Given the description of an element on the screen output the (x, y) to click on. 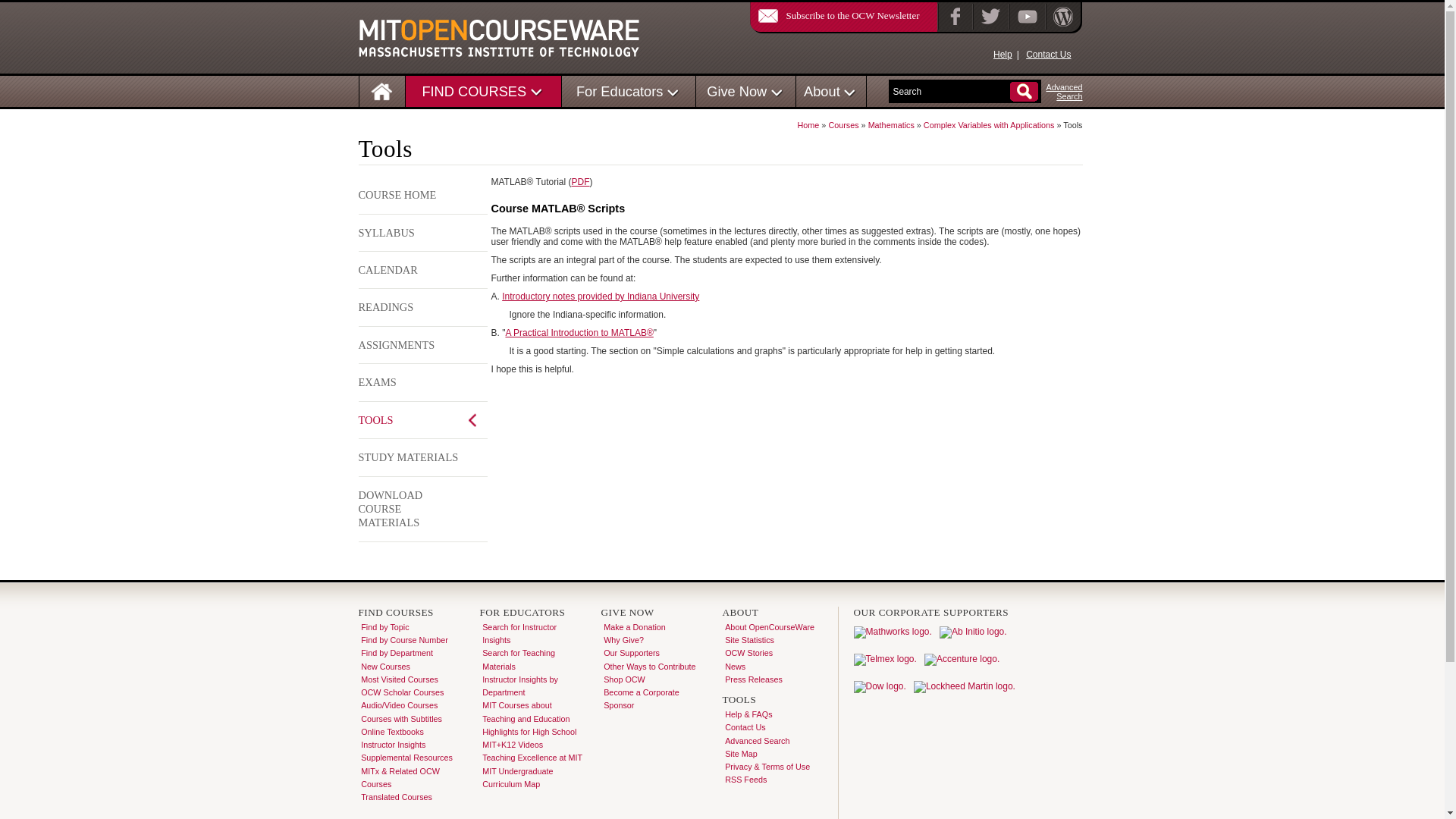
FIND COURSES (473, 91)
Help (1001, 54)
Subscribe to the OCW Newsletter (833, 15)
Contact Us (1048, 54)
Search (951, 91)
Search (951, 91)
For Educators (619, 91)
